Given the description of an element on the screen output the (x, y) to click on. 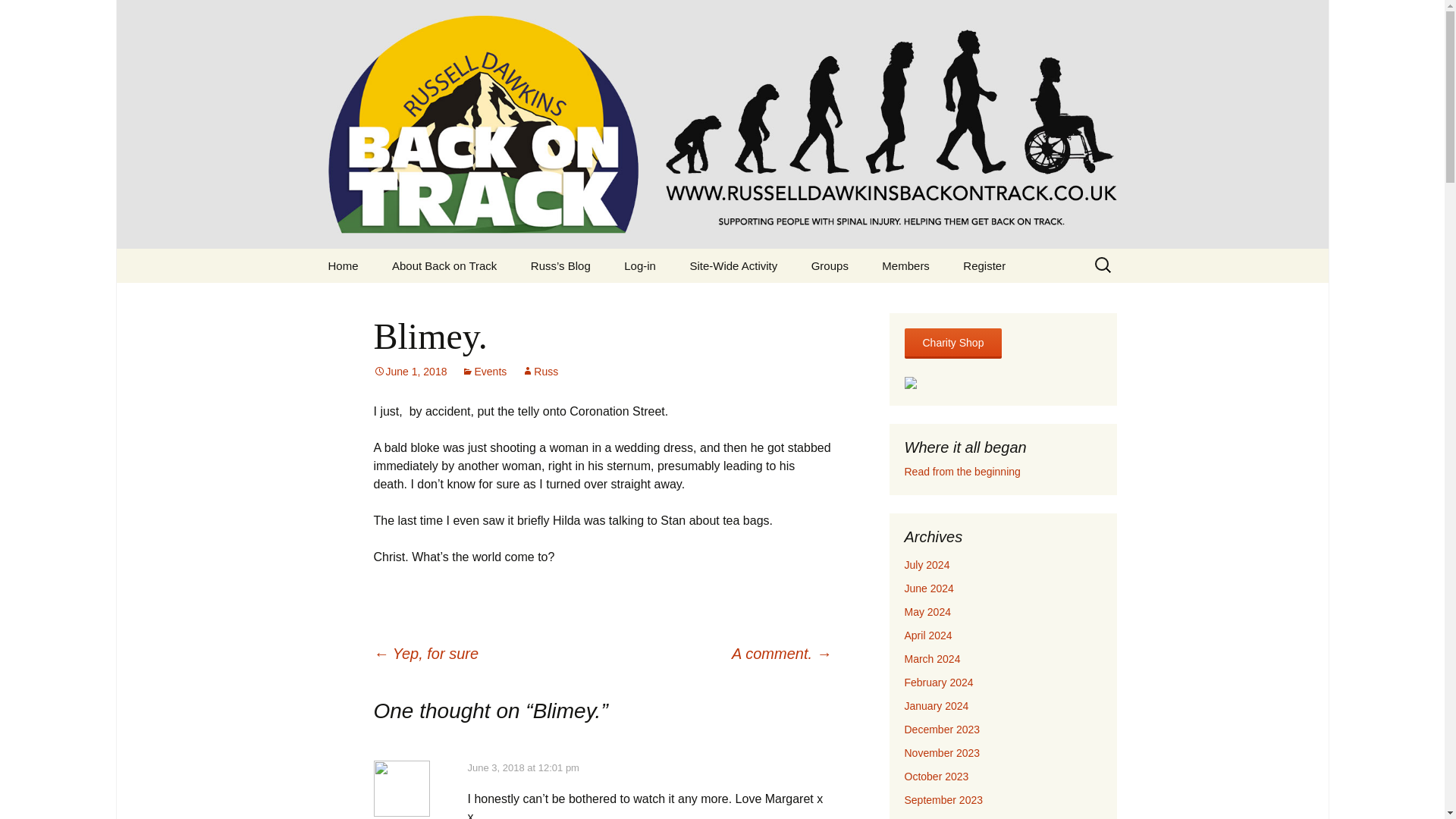
Search (18, 15)
View all posts by Russ (539, 371)
September 2023 (943, 799)
January 2024 (936, 705)
June 3, 2018 at 12:01 pm (522, 767)
June 1, 2018 (409, 371)
October 2023 (936, 776)
Log-in (639, 265)
Permalink to Blimey. (409, 371)
June 2024 (928, 588)
May 2024 (927, 612)
Read from the beginning (962, 471)
Site-Wide Activity (733, 265)
